Given the description of an element on the screen output the (x, y) to click on. 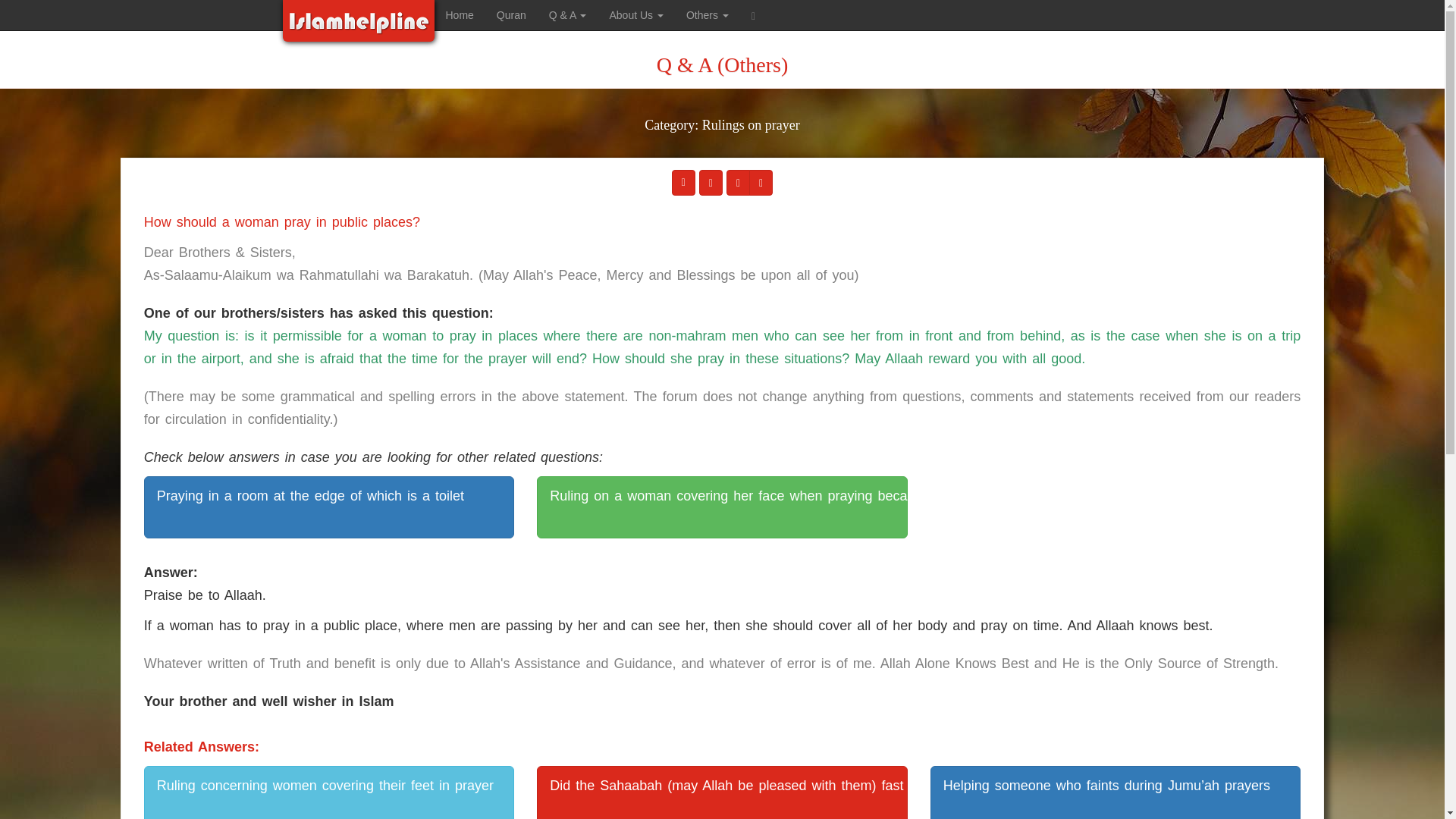
Category: Rulings on prayer (722, 134)
About Us (635, 15)
Praying in a room at the edge of which is a toilet (328, 506)
Others (707, 15)
Ruling concerning women covering their feet in prayer (328, 792)
Home (458, 15)
Quran (510, 15)
